Given the description of an element on the screen output the (x, y) to click on. 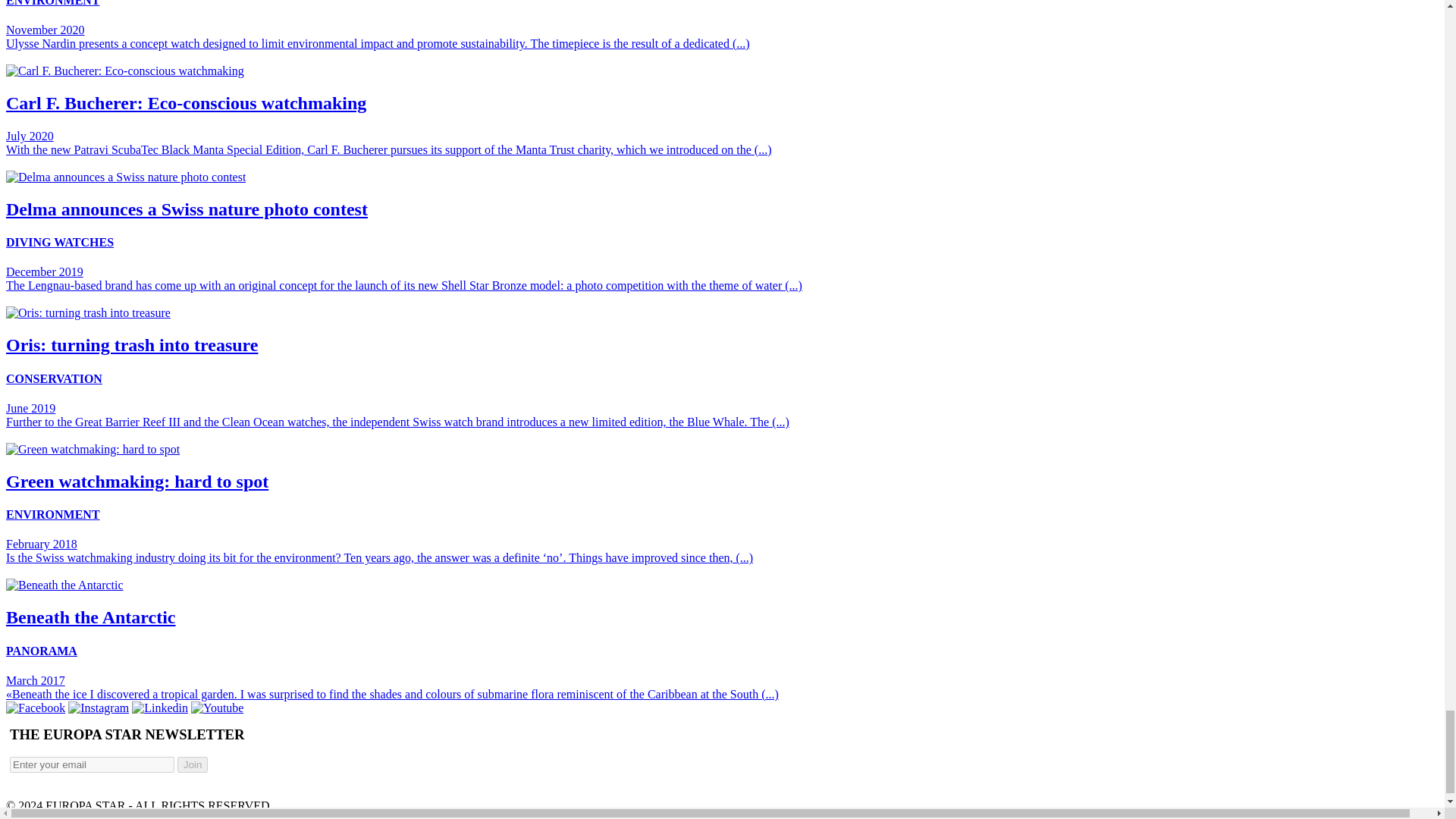
Instagram (98, 707)
Join (192, 764)
Linkedin (159, 707)
Facebook (35, 707)
Youtube (217, 707)
